Given the description of an element on the screen output the (x, y) to click on. 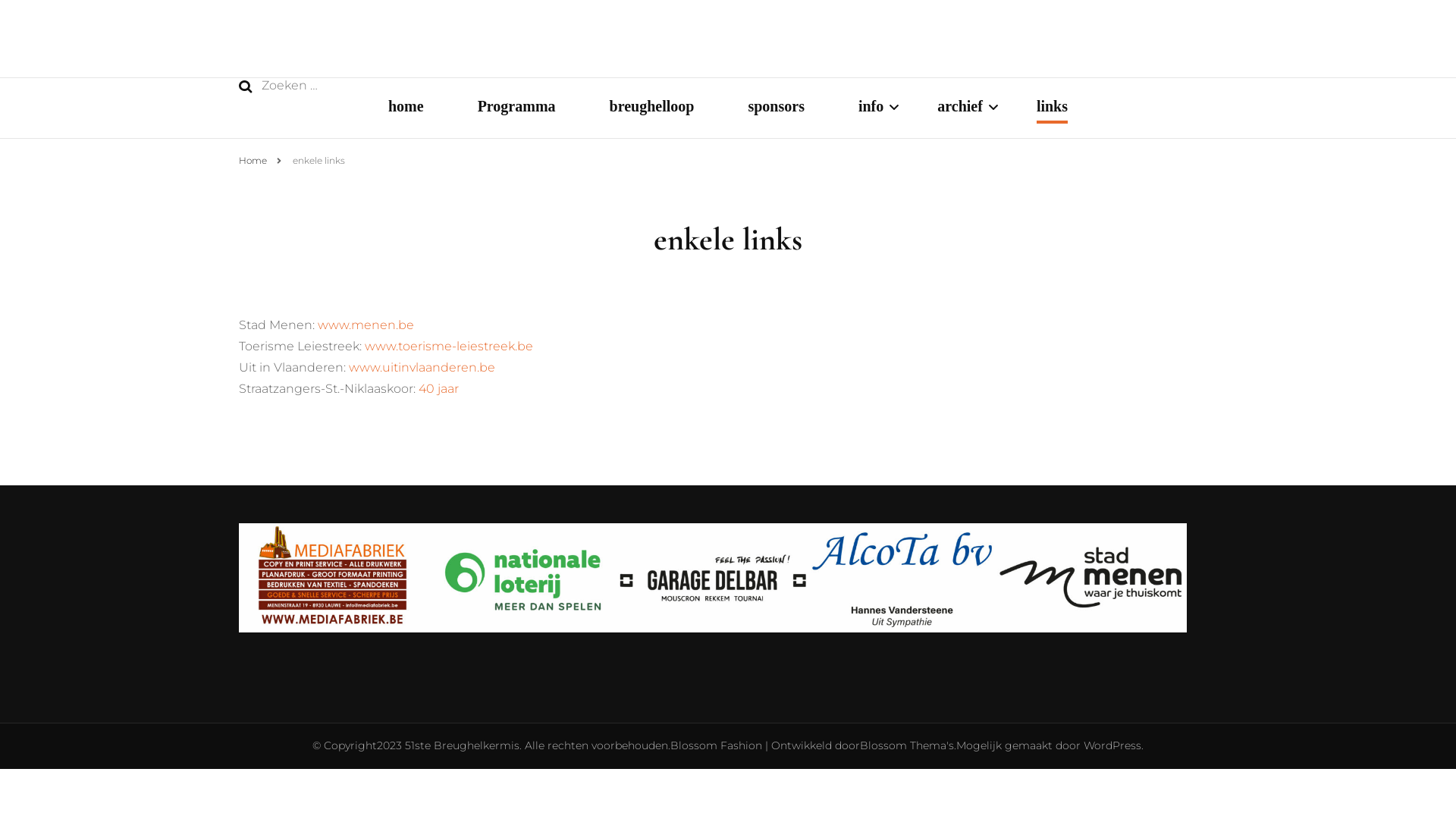
51ste Breughelkermis Element type: text (576, 42)
archief Element type: text (959, 107)
www.uitinvlaanderen.be Element type: text (421, 367)
enkele links Element type: text (318, 160)
Zoeken Element type: text (245, 86)
sponsors Element type: text (775, 107)
Programma Element type: text (516, 107)
WordPress Element type: text (1112, 745)
Home Element type: text (252, 160)
Blossom Thema's Element type: text (906, 745)
www.toerisme-leiestreek.be Element type: text (448, 345)
info Element type: text (870, 107)
home Element type: text (405, 107)
www.menen.be Element type: text (365, 324)
40 jaar Element type: text (438, 388)
links Element type: text (1051, 107)
51ste Breughelkermis Element type: text (461, 745)
breughelloop Element type: text (651, 107)
